Given the description of an element on the screen output the (x, y) to click on. 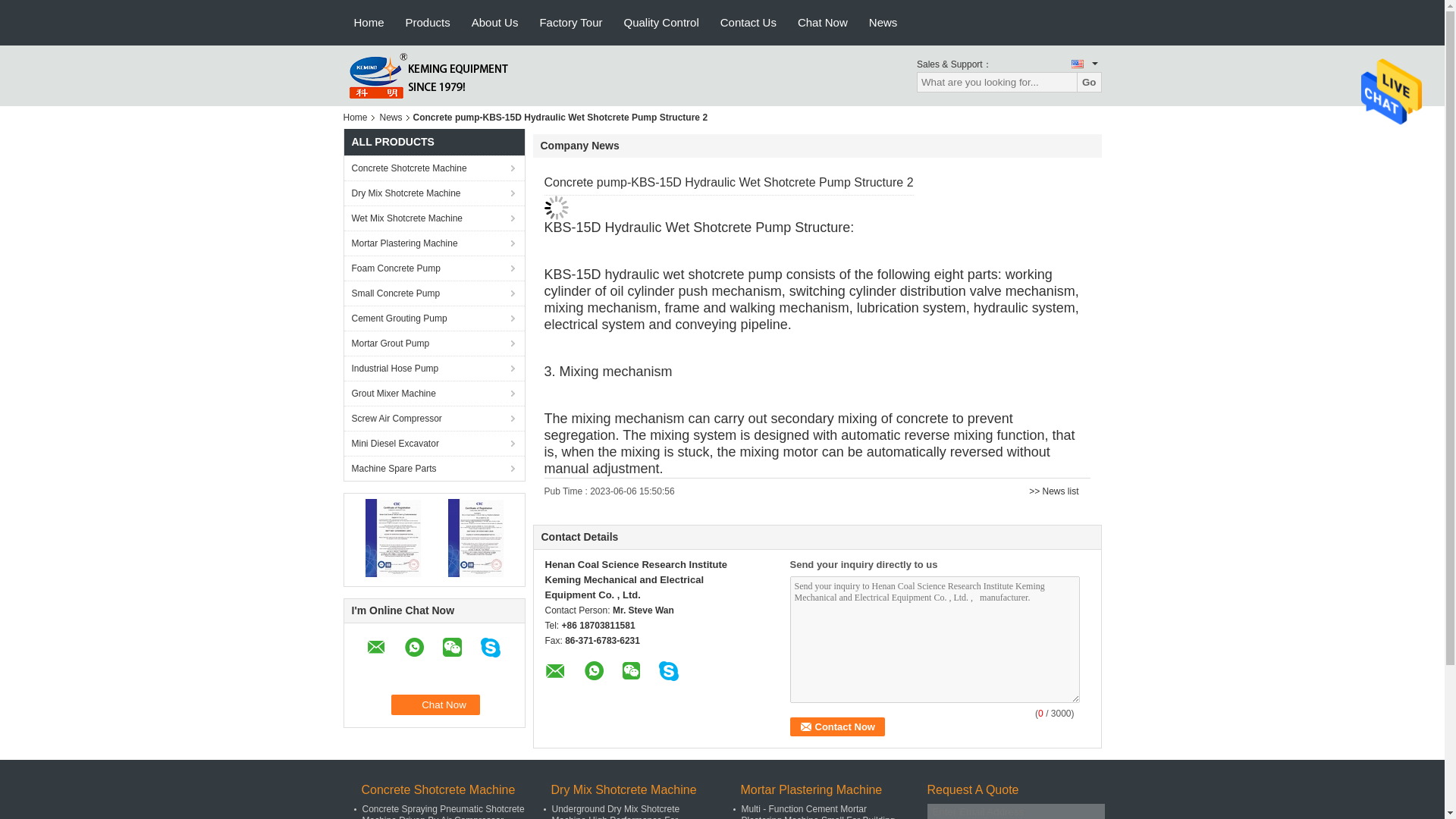
Contact Us (748, 22)
Chat Now (435, 704)
News (883, 22)
Home (357, 117)
Dry Mix Shotcrete Machine (433, 192)
Wet Mix Shotcrete Machine (433, 217)
Mortar Plastering Machine (433, 242)
Small Concrete Pump (433, 292)
Factory Tour (570, 22)
News (391, 117)
Concrete Shotcrete Machine (433, 167)
Products (427, 22)
Cement Grouting Pump (433, 317)
Contact Now (837, 726)
About Us (495, 22)
